Given the description of an element on the screen output the (x, y) to click on. 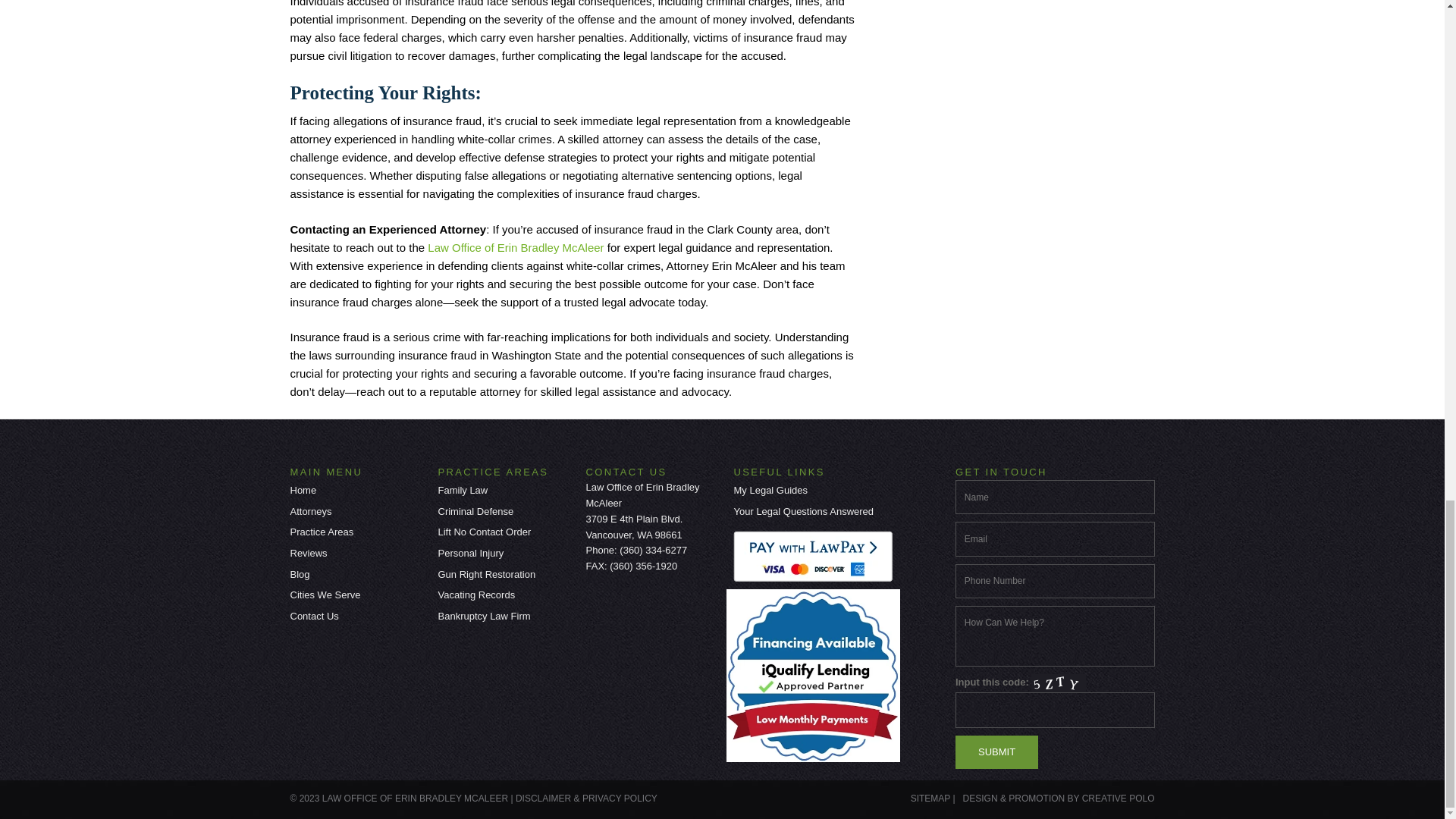
badge of Iqualify Lending (812, 675)
Submit (996, 752)
LawPay Badge (812, 556)
Lawpay link (816, 555)
link of Iqualify Lending (816, 674)
